Given the description of an element on the screen output the (x, y) to click on. 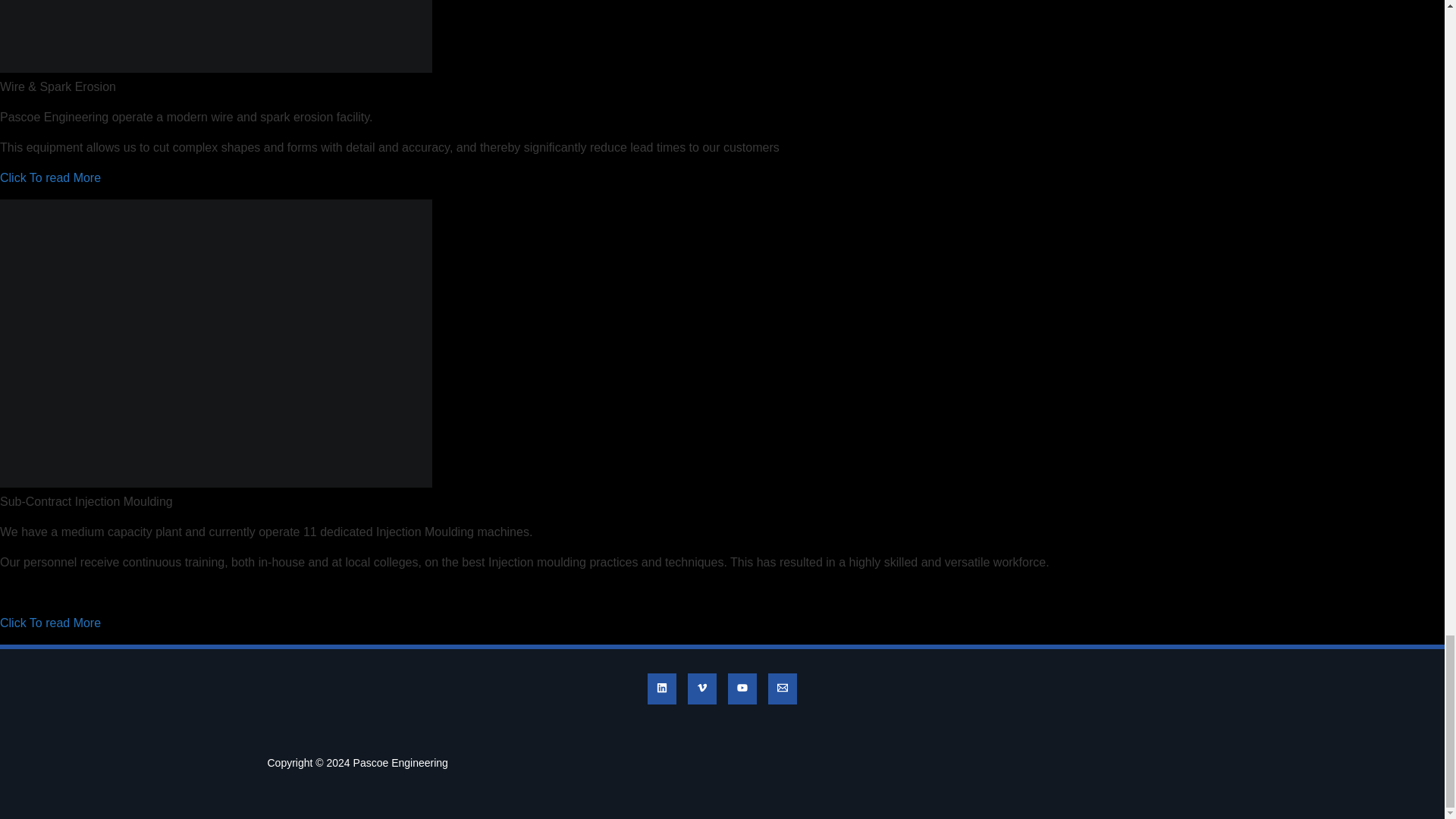
Email (782, 687)
